Given the description of an element on the screen output the (x, y) to click on. 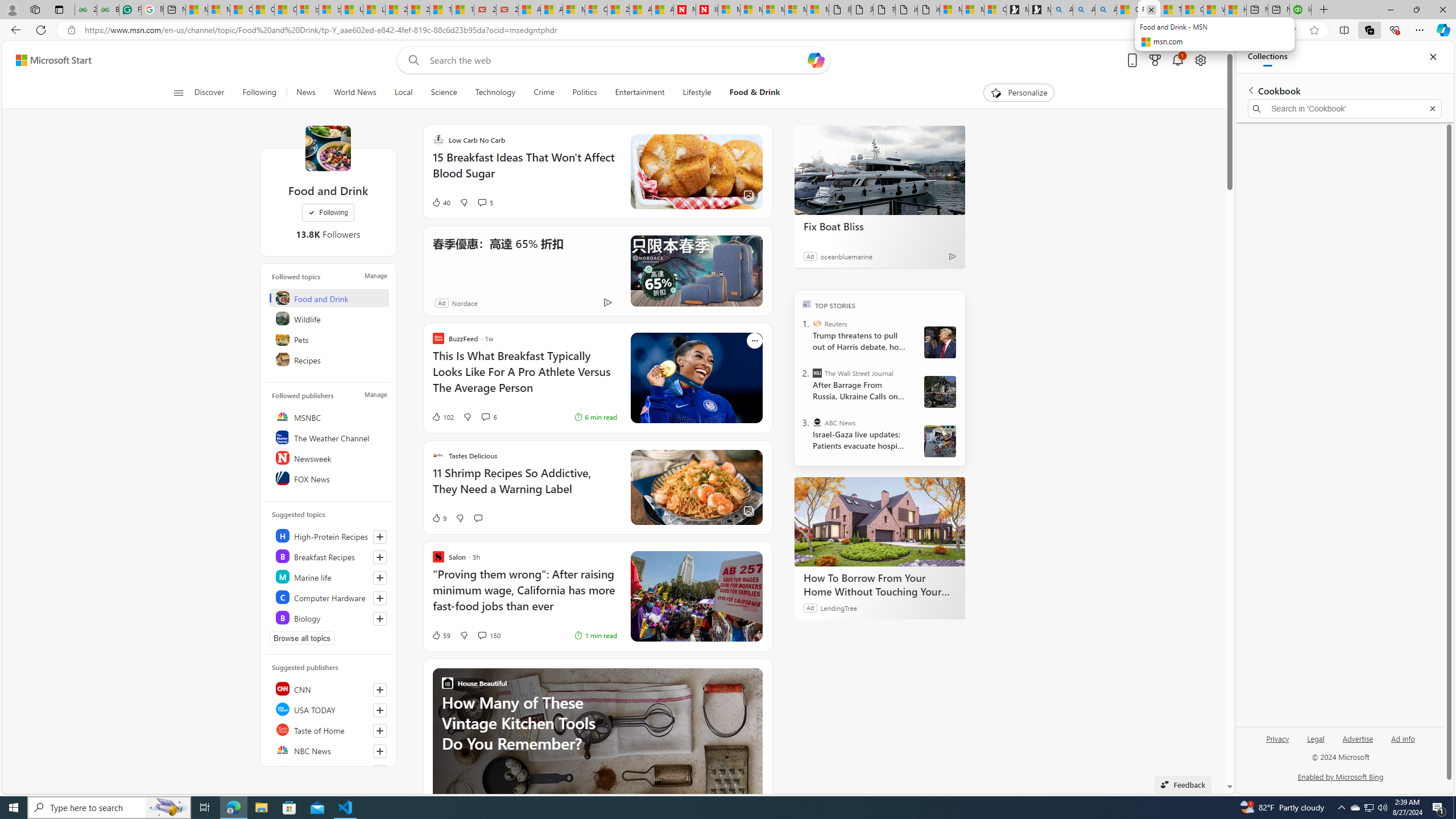
Reuters (816, 323)
Newsweek (328, 457)
11 Shrimp Recipes So Addictive, They Need a Warning Label (524, 486)
Food and Drink (327, 148)
View comments 6 Comment (485, 416)
15 Ways Modern Life Contradicts the Teachings of Jesus (462, 9)
